Given the description of an element on the screen output the (x, y) to click on. 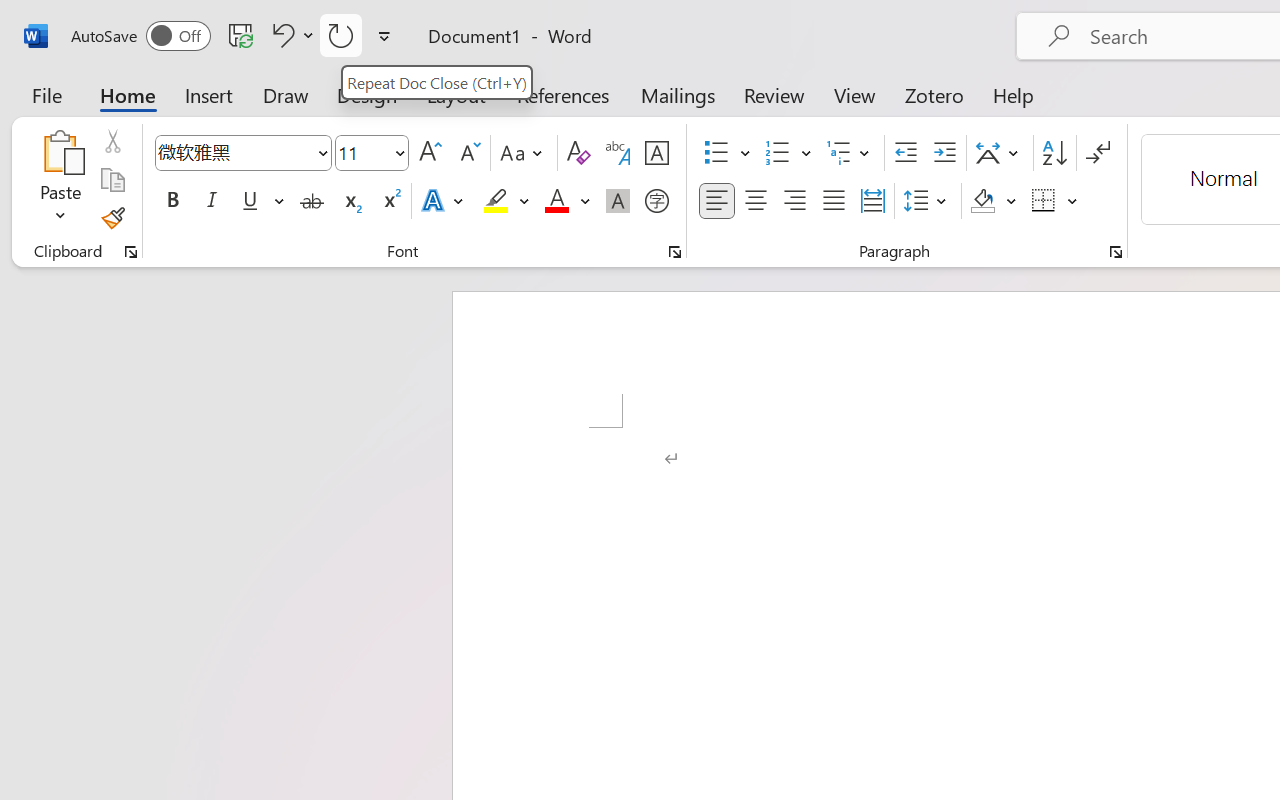
Undo <ApplyStyleToDoc>b__0 (290, 35)
Repeat Doc Close (341, 35)
Undo <ApplyStyleToDoc>b__0 (280, 35)
Repeat Doc Close (Ctrl+Y) (436, 82)
